Given the description of an element on the screen output the (x, y) to click on. 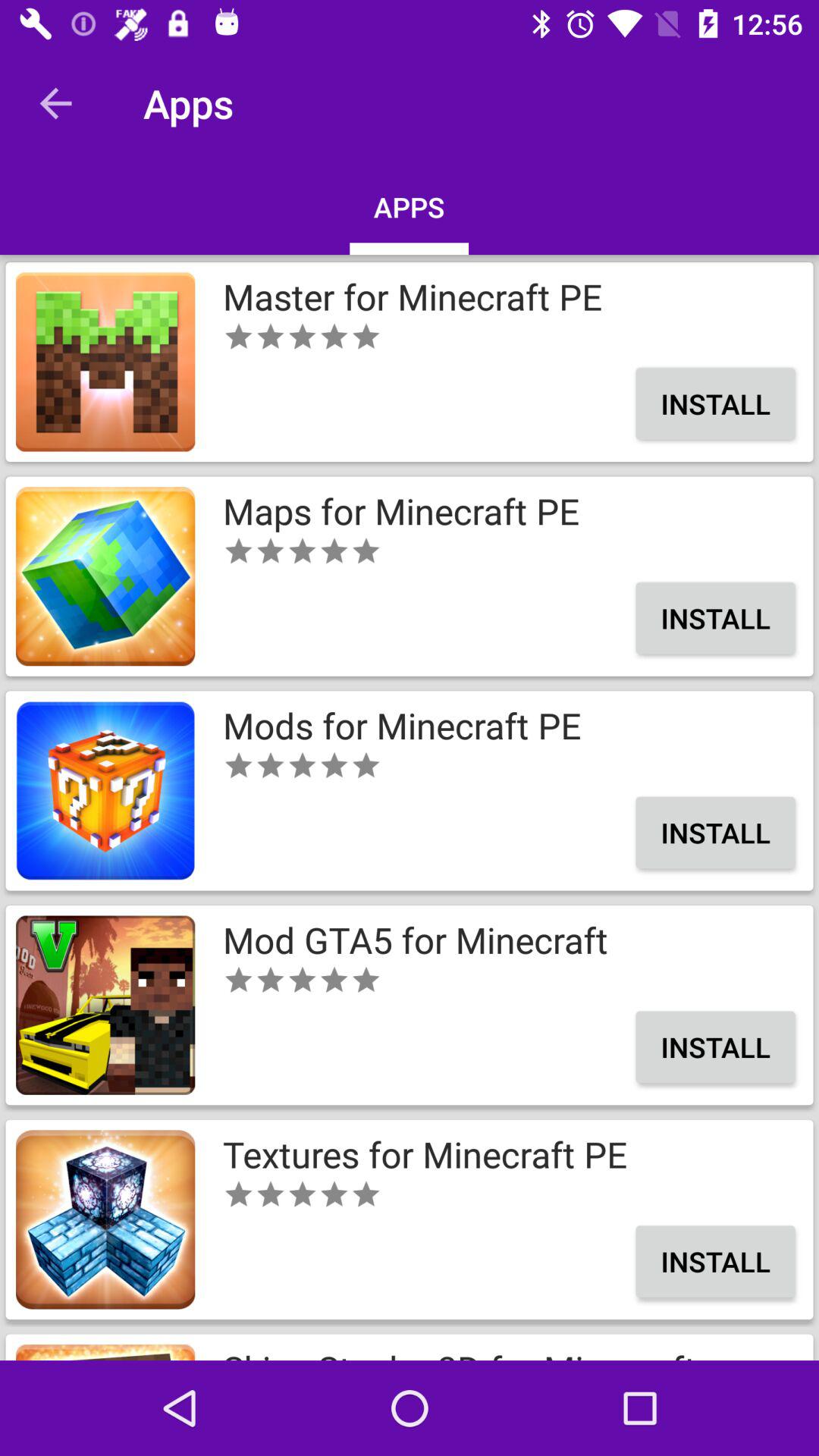
turn off the app to the left of apps icon (55, 103)
